Given the description of an element on the screen output the (x, y) to click on. 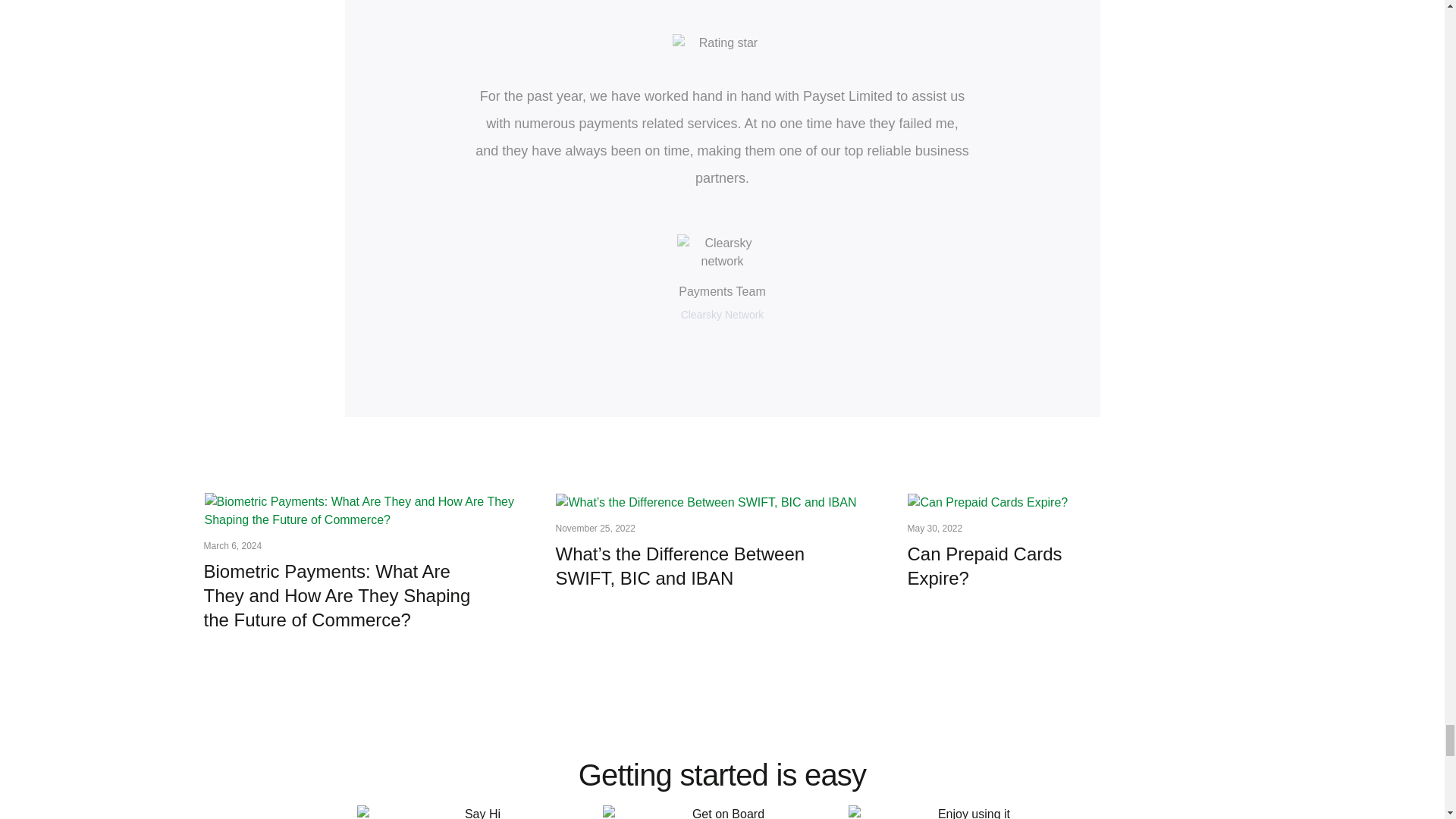
Can Prepaid Cards Expire? (1017, 569)
